Given the description of an element on the screen output the (x, y) to click on. 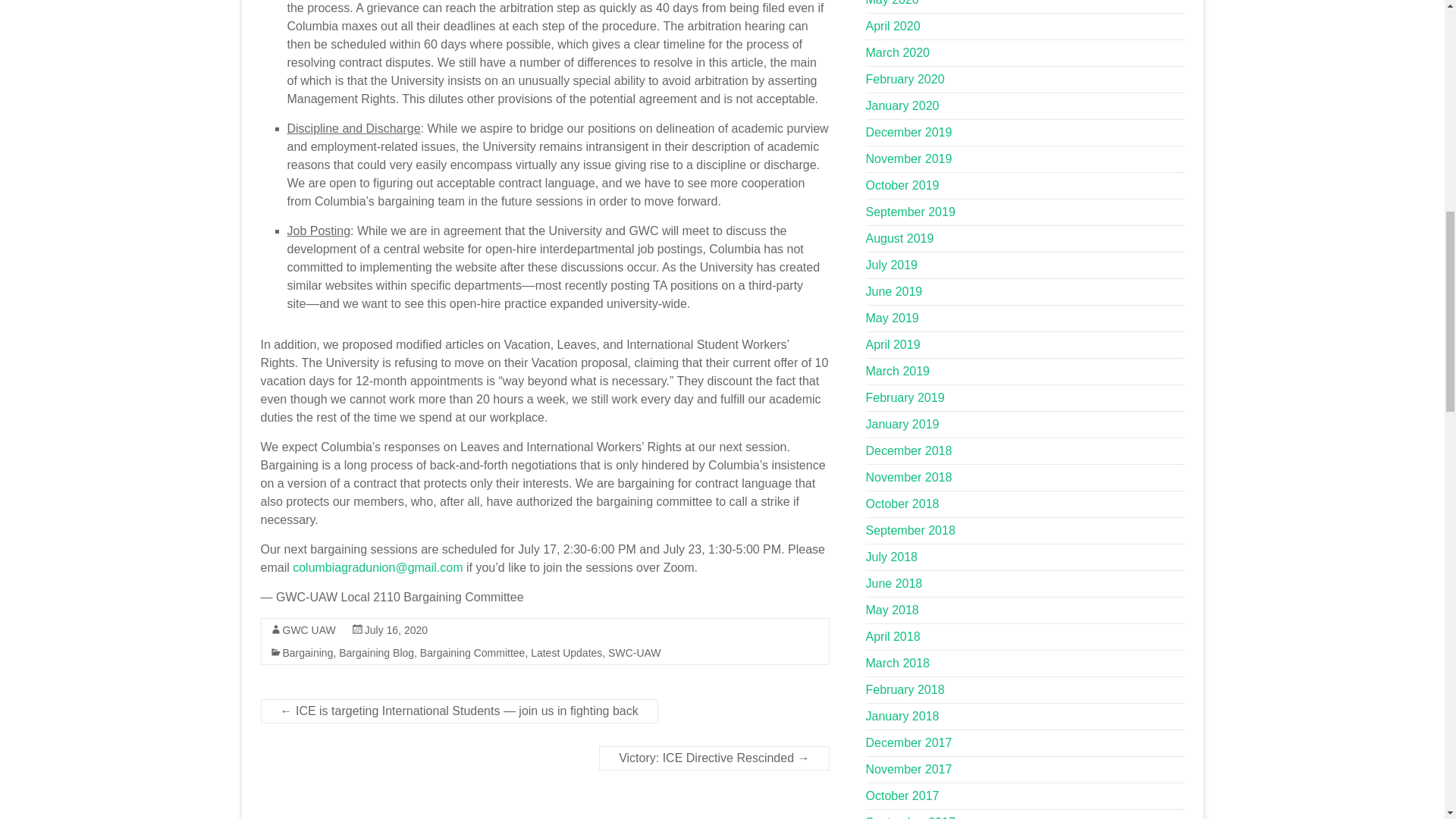
10:22 pm (396, 630)
Bargaining (307, 653)
July 16, 2020 (396, 630)
Bargaining Blog (376, 653)
Bargaining Committee (472, 653)
GWC UAW (308, 630)
